Given the description of an element on the screen output the (x, y) to click on. 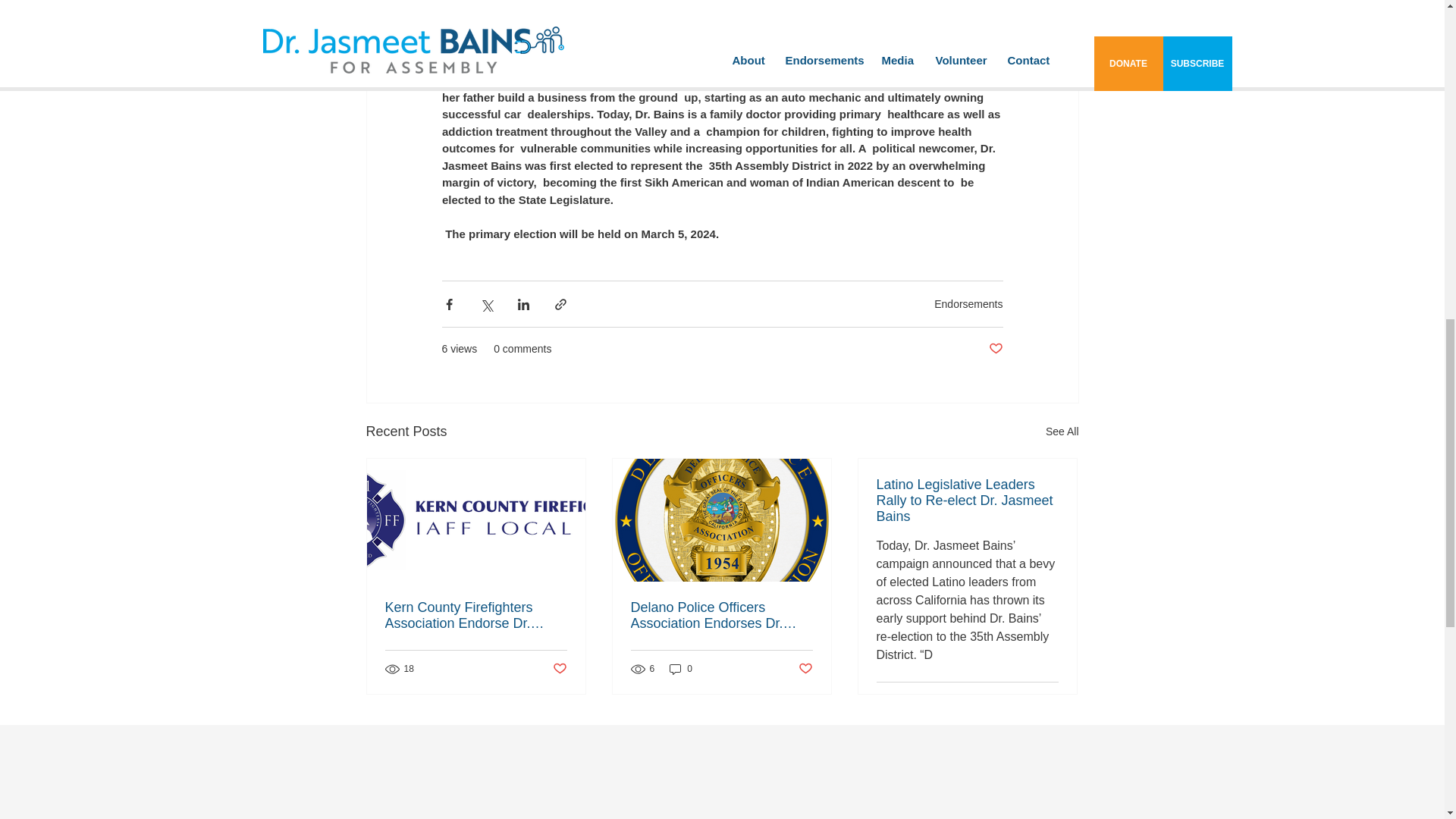
Post not marked as liked (1050, 700)
Post not marked as liked (804, 668)
Endorsements (968, 303)
Post not marked as liked (995, 349)
Post not marked as liked (558, 668)
0 (681, 667)
See All (1061, 431)
